Given the description of an element on the screen output the (x, y) to click on. 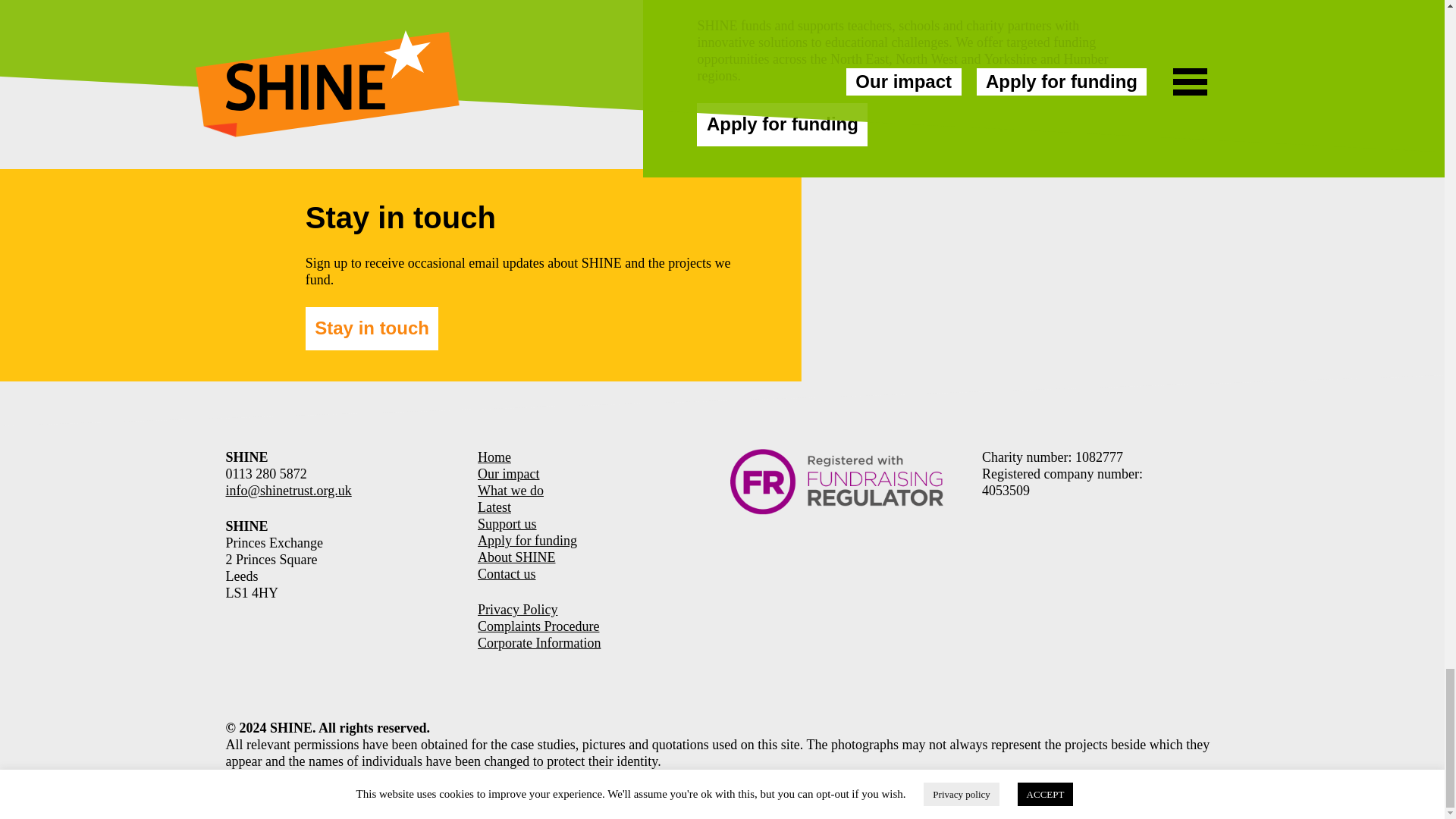
Home (494, 457)
What we do (510, 490)
Stay in touch (372, 328)
Our impact (507, 473)
Apply for funding (782, 124)
Support us (507, 523)
Latest (494, 507)
